Given the description of an element on the screen output the (x, y) to click on. 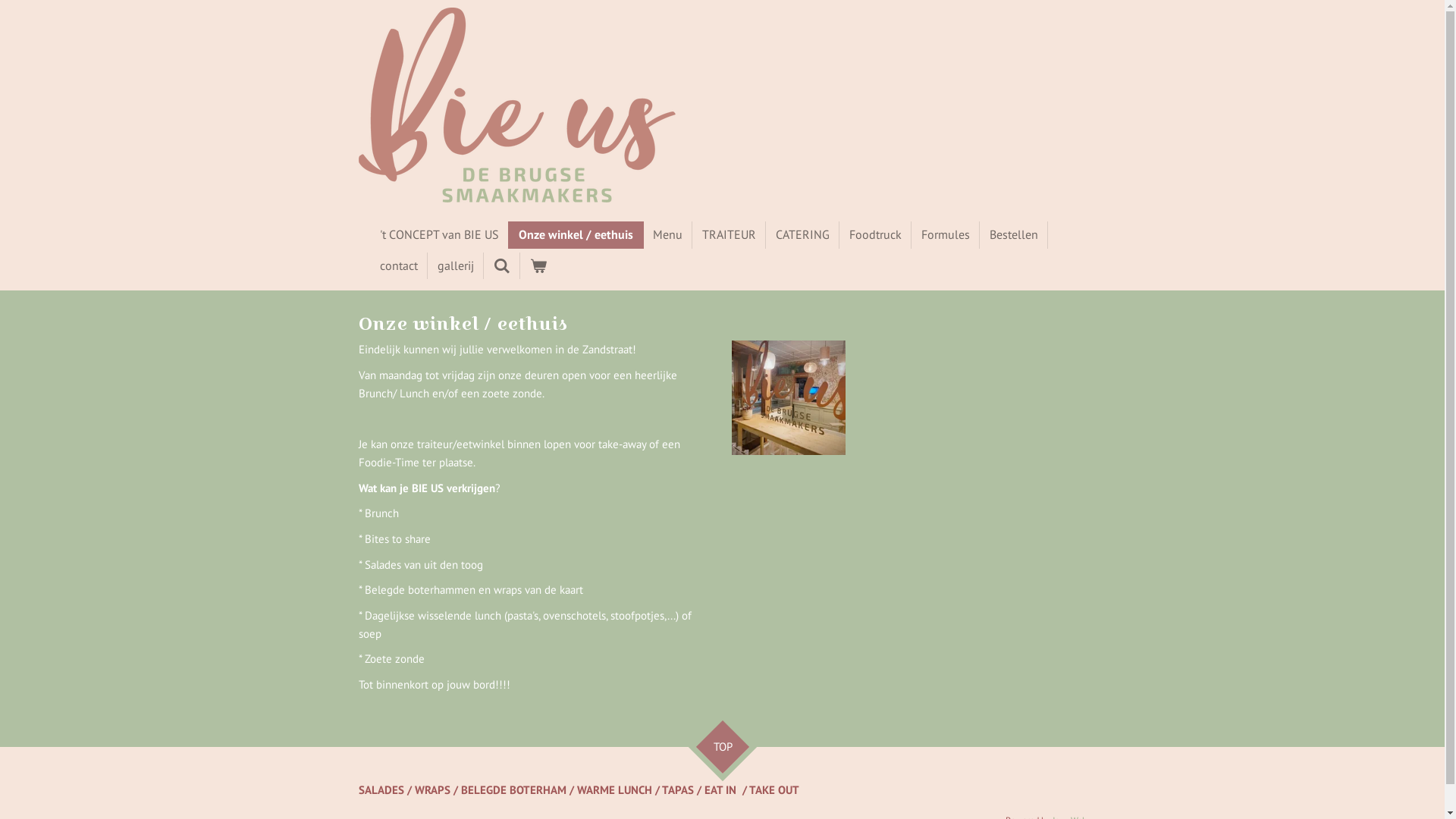
Foodtruck Element type: text (874, 234)
contact Element type: text (398, 265)
BIE US Element type: hover (515, 104)
Zoeken Element type: hover (501, 265)
Formules Element type: text (945, 234)
Menu Element type: text (667, 234)
CATERING Element type: text (802, 234)
TOP Element type: text (714, 739)
Onze winkel / eethuis Element type: text (575, 234)
gallerij Element type: text (455, 265)
TRAITEUR Element type: text (728, 234)
't CONCEPT van BIE US Element type: text (439, 234)
Bestellen Element type: text (1013, 234)
Bekijk winkelwagen Element type: hover (538, 265)
